Given the description of an element on the screen output the (x, y) to click on. 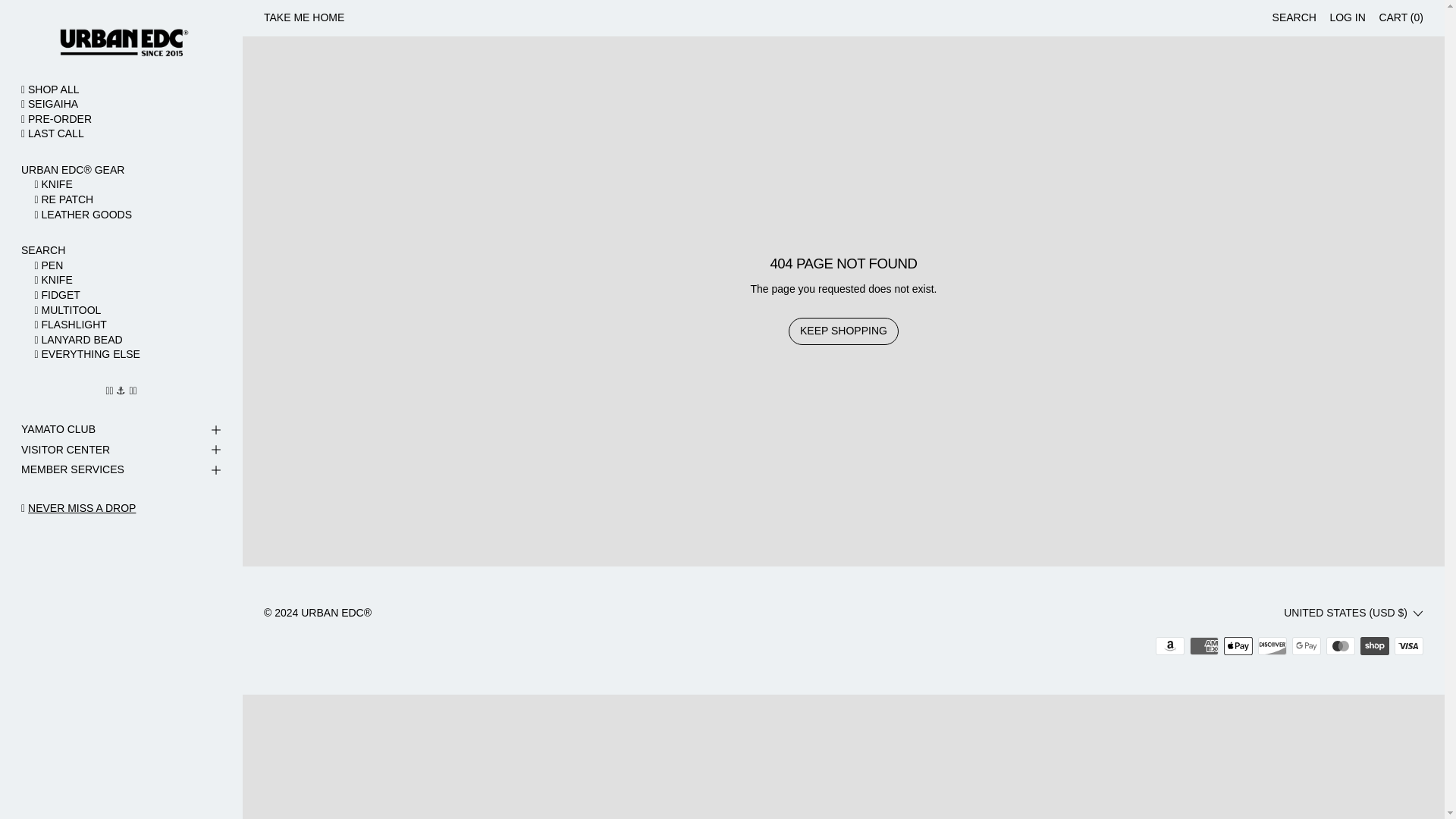
VISITOR CENTER (121, 449)
MEMBER SERVICES (121, 470)
TAKE ME HOME (303, 17)
YAMATO CLUB (121, 430)
SEARCH (1294, 17)
NEVER MISS A DROP (81, 508)
SEARCH (121, 250)
